Given the description of an element on the screen output the (x, y) to click on. 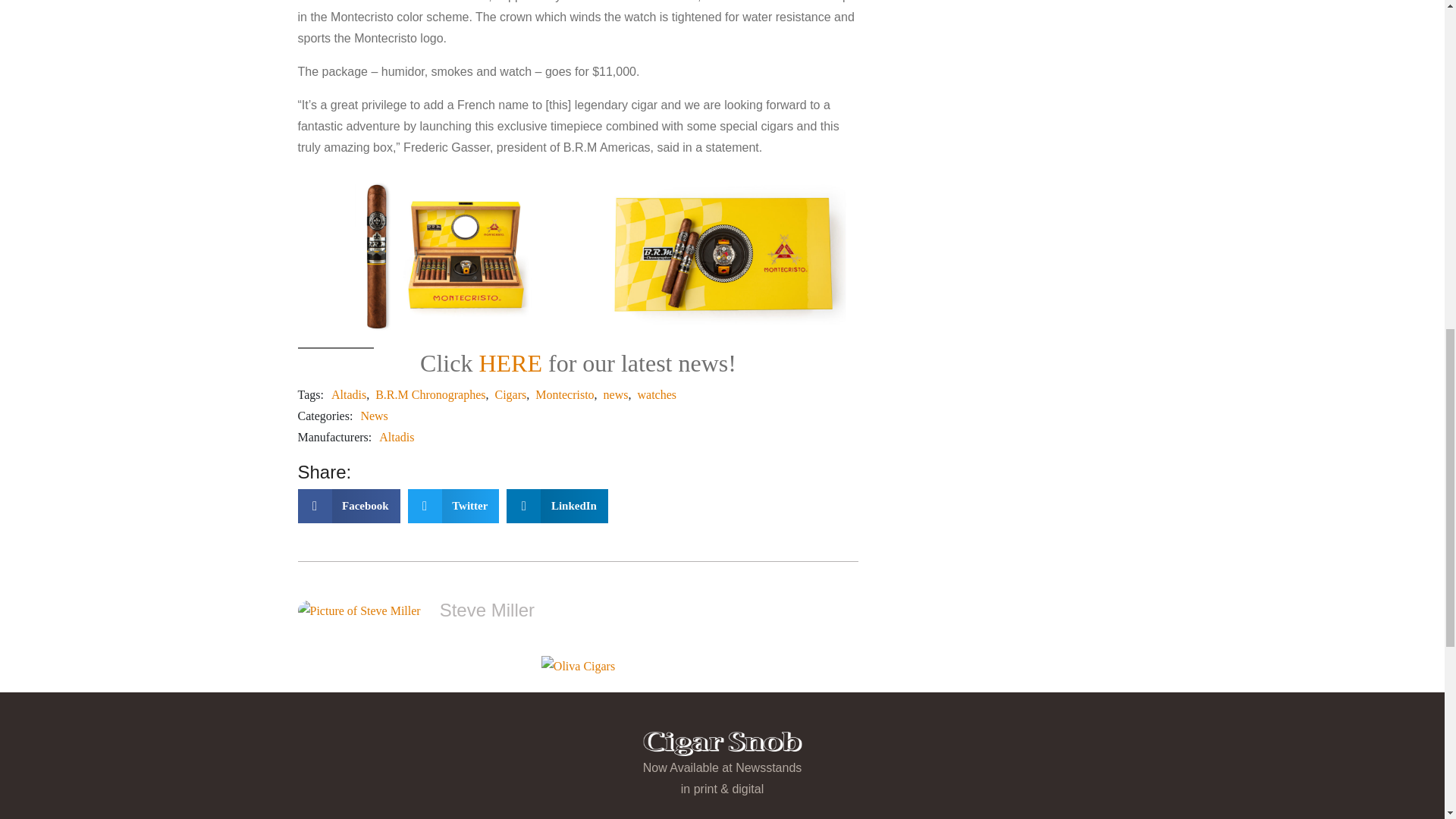
Oliva Cigars (577, 666)
